Given the description of an element on the screen output the (x, y) to click on. 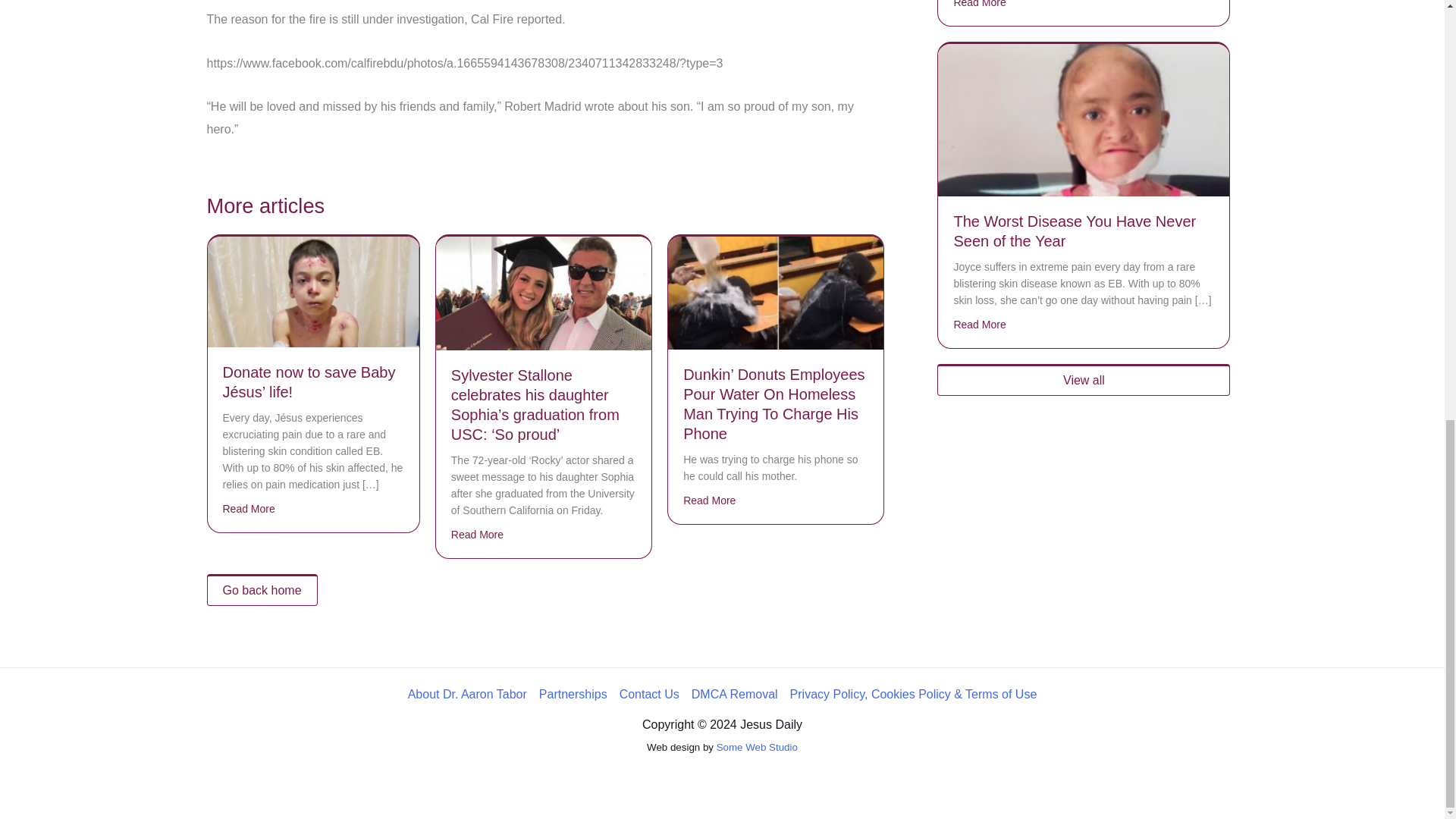
The Worst Disease You Have Never Seen of the Year (1074, 230)
About Dr. Aaron Tabor (469, 694)
Read More (477, 534)
Read More (979, 324)
The Worst Disease You Have Never Seen of the Year (1082, 119)
Partnerships (572, 694)
Contact Us (648, 694)
Read More (979, 5)
DMCA Removal (734, 694)
Read More (708, 500)
